Given the description of an element on the screen output the (x, y) to click on. 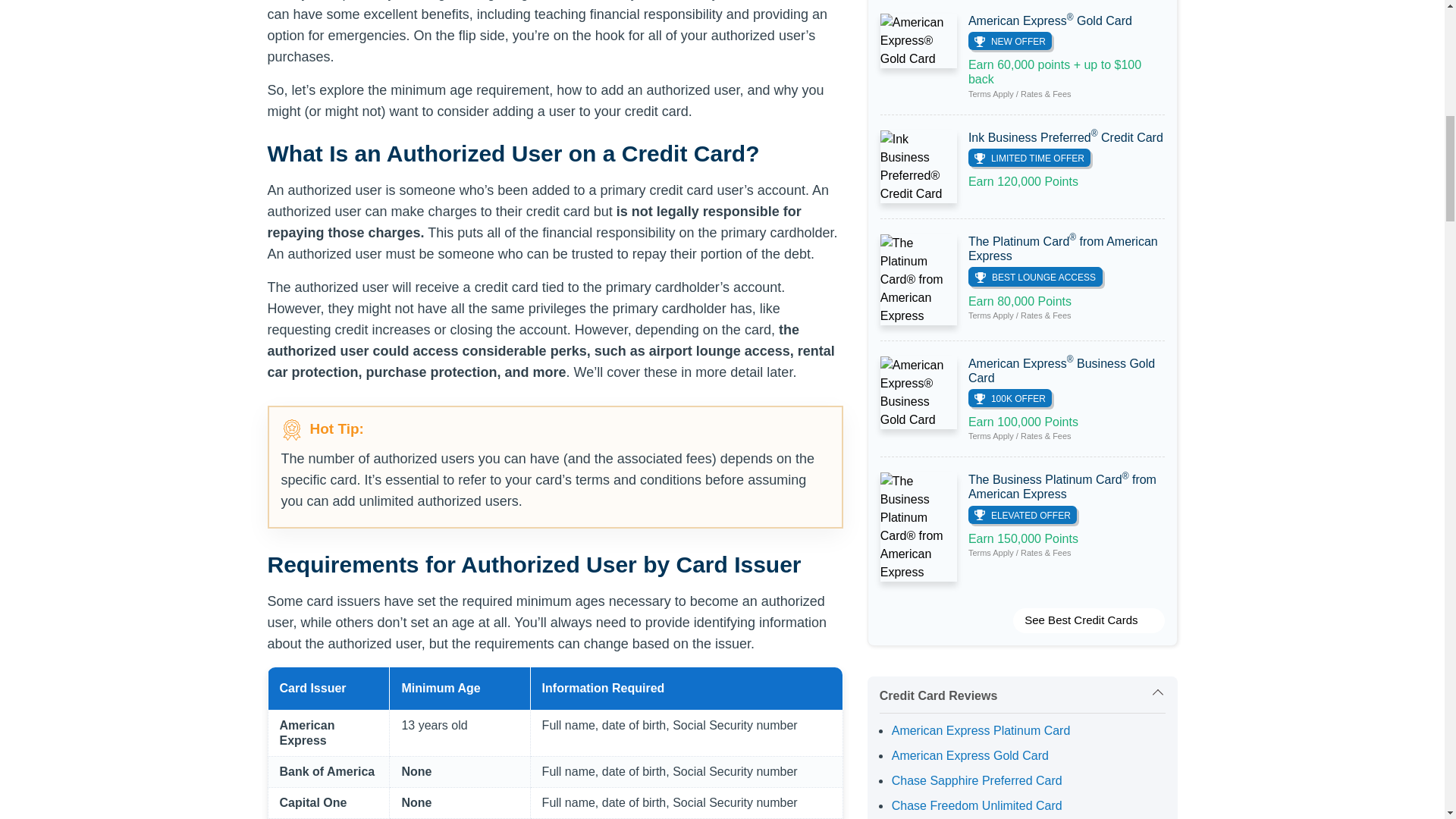
on (1022, 691)
